Given the description of an element on the screen output the (x, y) to click on. 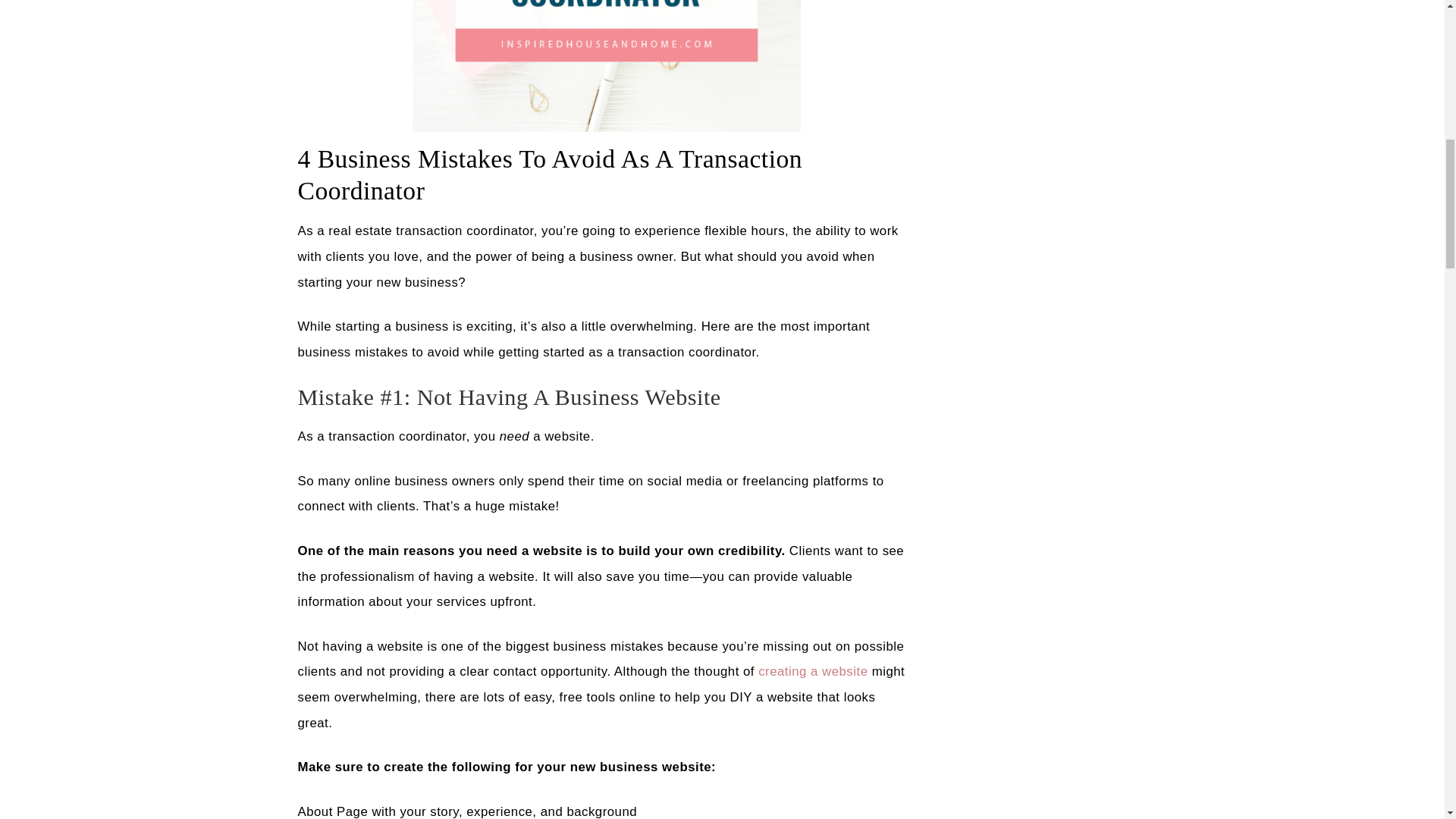
creating a website (812, 671)
